Given the description of an element on the screen output the (x, y) to click on. 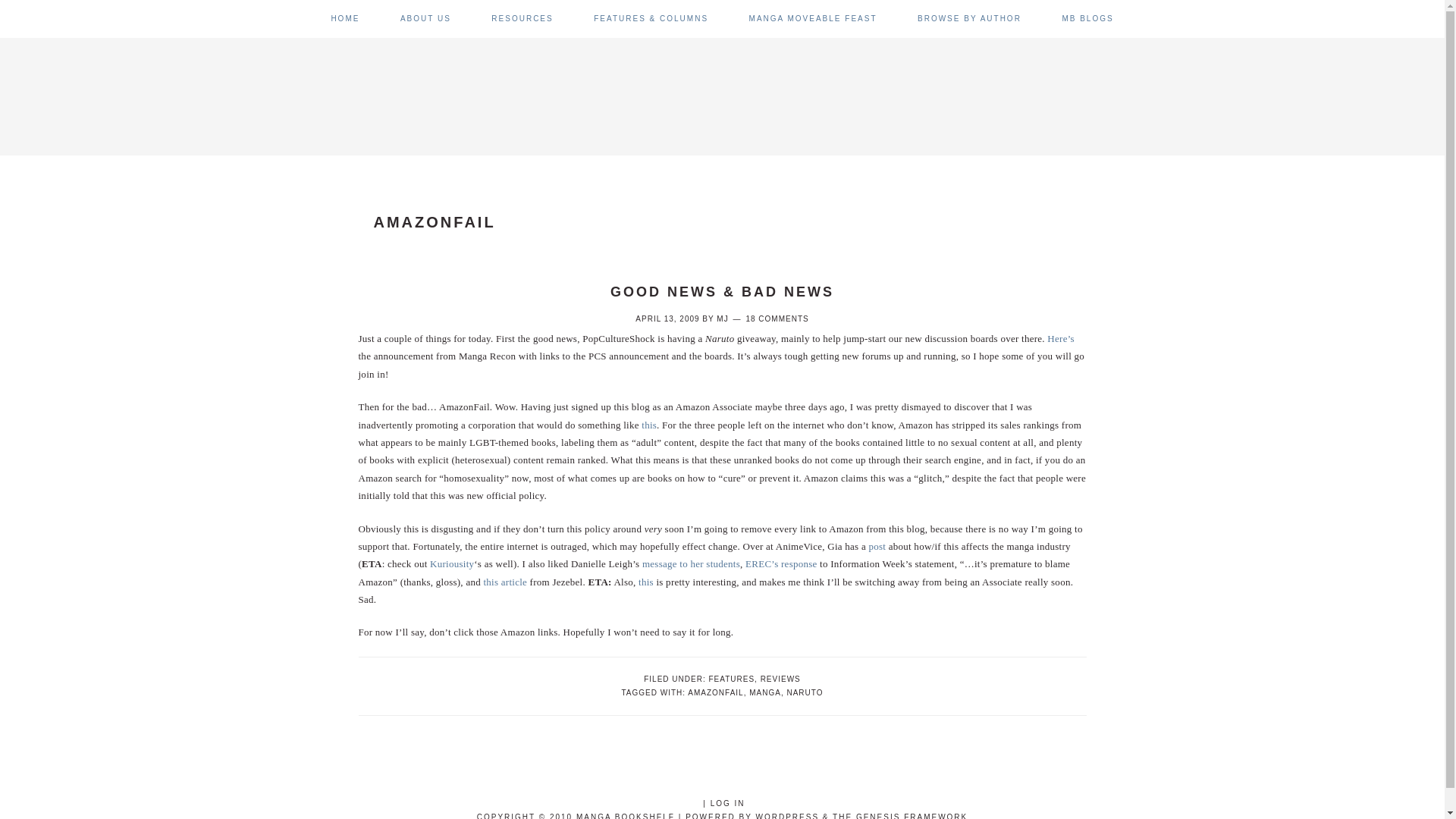
HOME (344, 18)
RESOURCES (521, 18)
Posts by MJ (722, 318)
MANGA MOVEABLE FEAST (813, 18)
ABOUT US (425, 18)
